Given the description of an element on the screen output the (x, y) to click on. 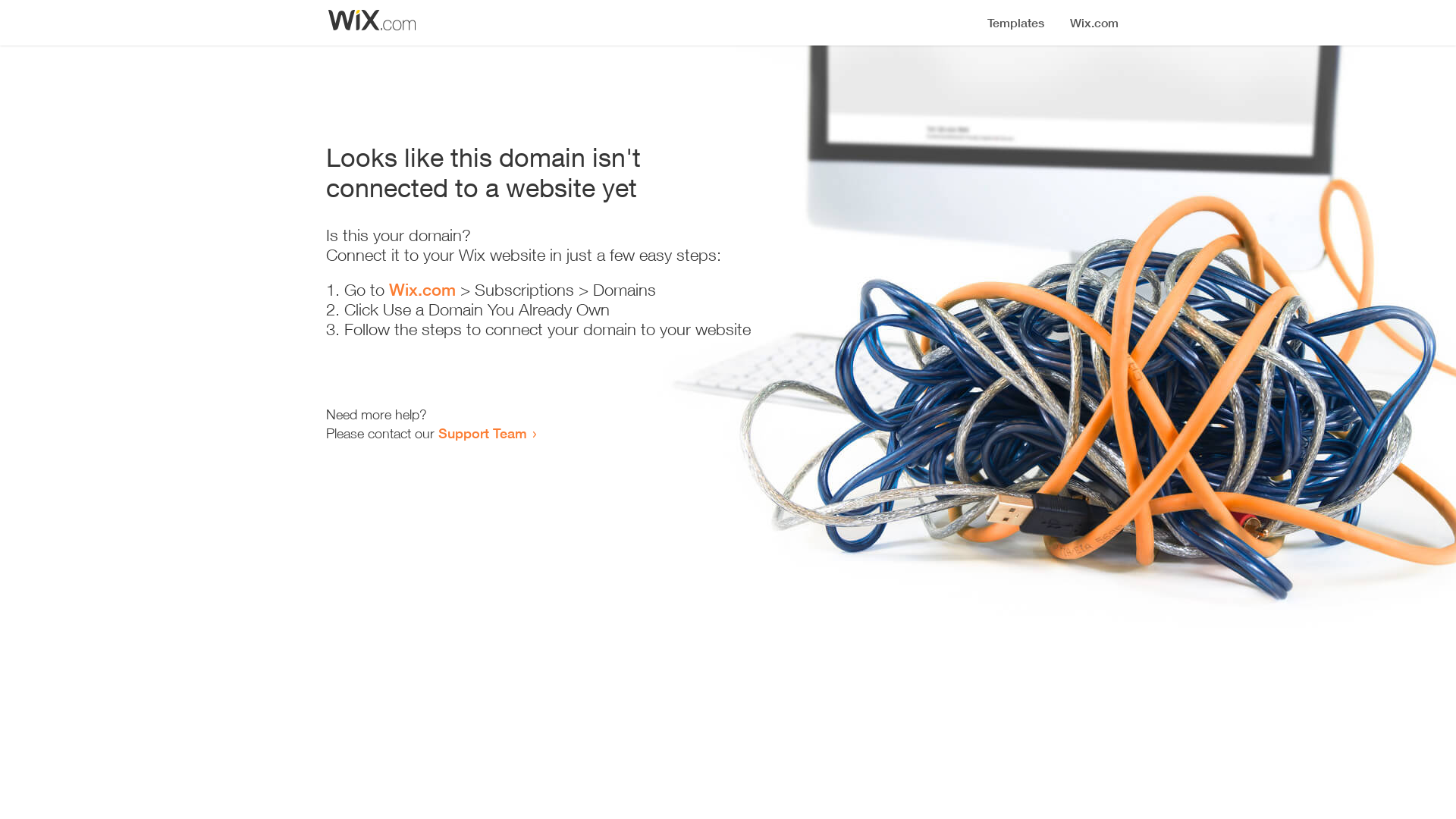
Wix.com Element type: text (422, 289)
Support Team Element type: text (482, 432)
